Given the description of an element on the screen output the (x, y) to click on. 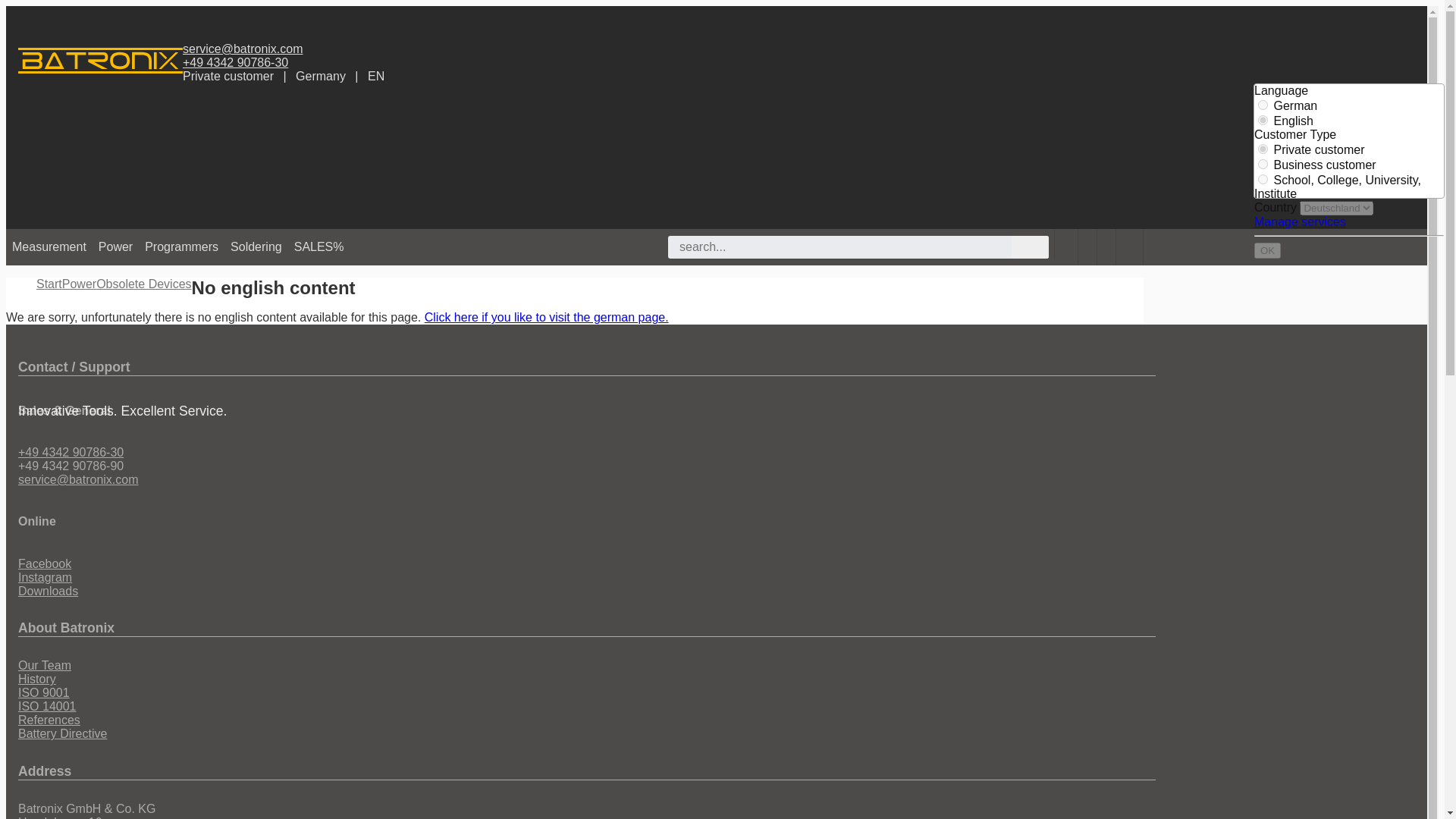
2 (1262, 163)
Batronix Logo (100, 60)
de (1262, 104)
1 (1262, 148)
Manage services (1299, 221)
Measurement (48, 247)
OK (1267, 250)
3 (1262, 179)
en (1262, 120)
